Given the description of an element on the screen output the (x, y) to click on. 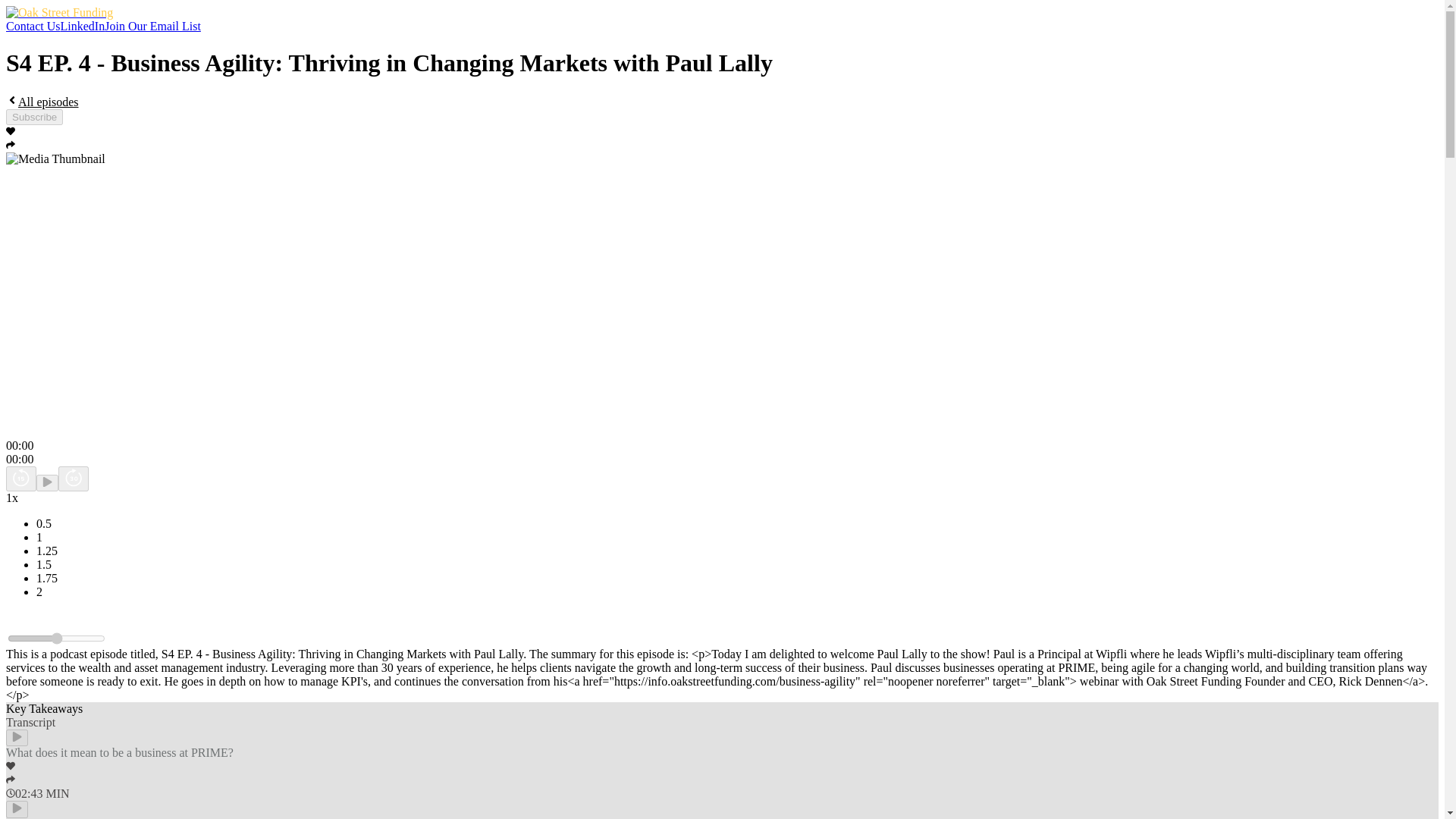
Join Our Email List (152, 25)
LinkedIn (82, 25)
Subscribe (33, 116)
0.5 (55, 638)
LinkedIn (82, 25)
Oak Street Funding (59, 11)
Contact Us (33, 25)
All episodes (41, 101)
Join Our Email List (152, 25)
Contact Us (33, 25)
